Given the description of an element on the screen output the (x, y) to click on. 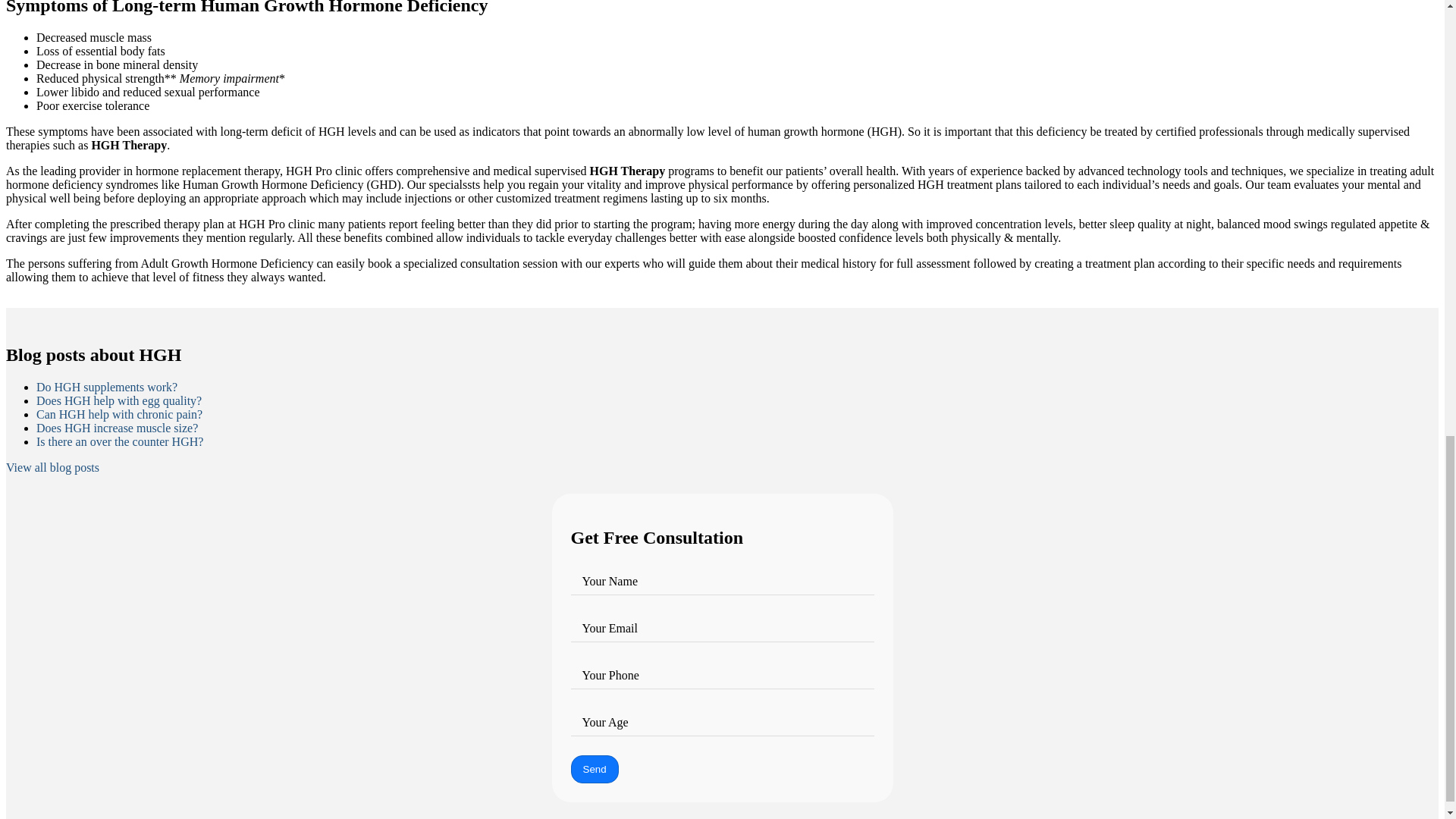
Do HGH supplements work? (106, 386)
Can HGH help with chronic pain? (119, 413)
Is there an over the counter HGH? (119, 440)
View all blog posts (52, 468)
Send (593, 768)
Does HGH increase muscle size? (117, 427)
Does HGH help with egg quality? (119, 400)
